Given the description of an element on the screen output the (x, y) to click on. 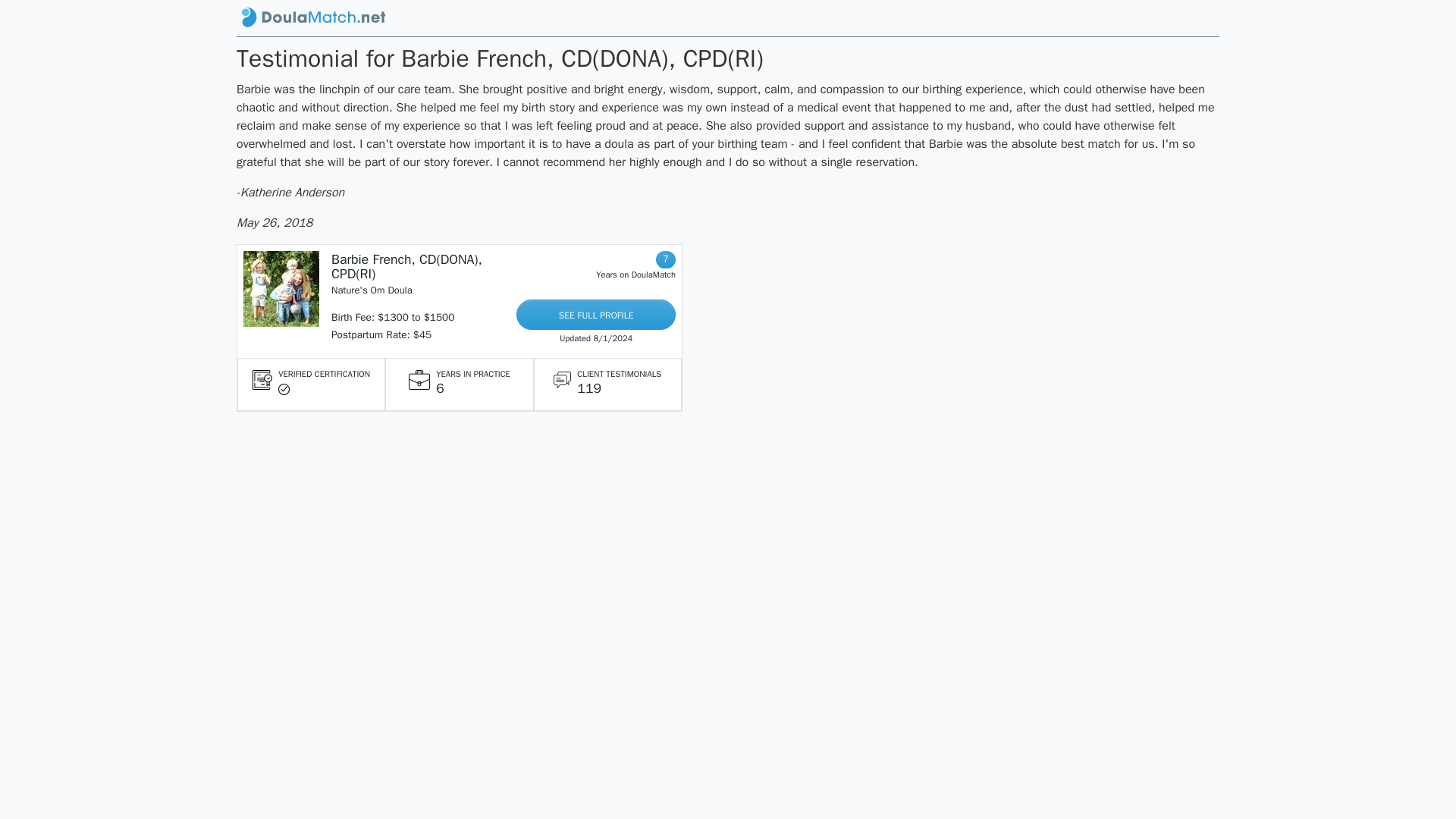
SEE FULL PROFILE (595, 314)
